Given the description of an element on the screen output the (x, y) to click on. 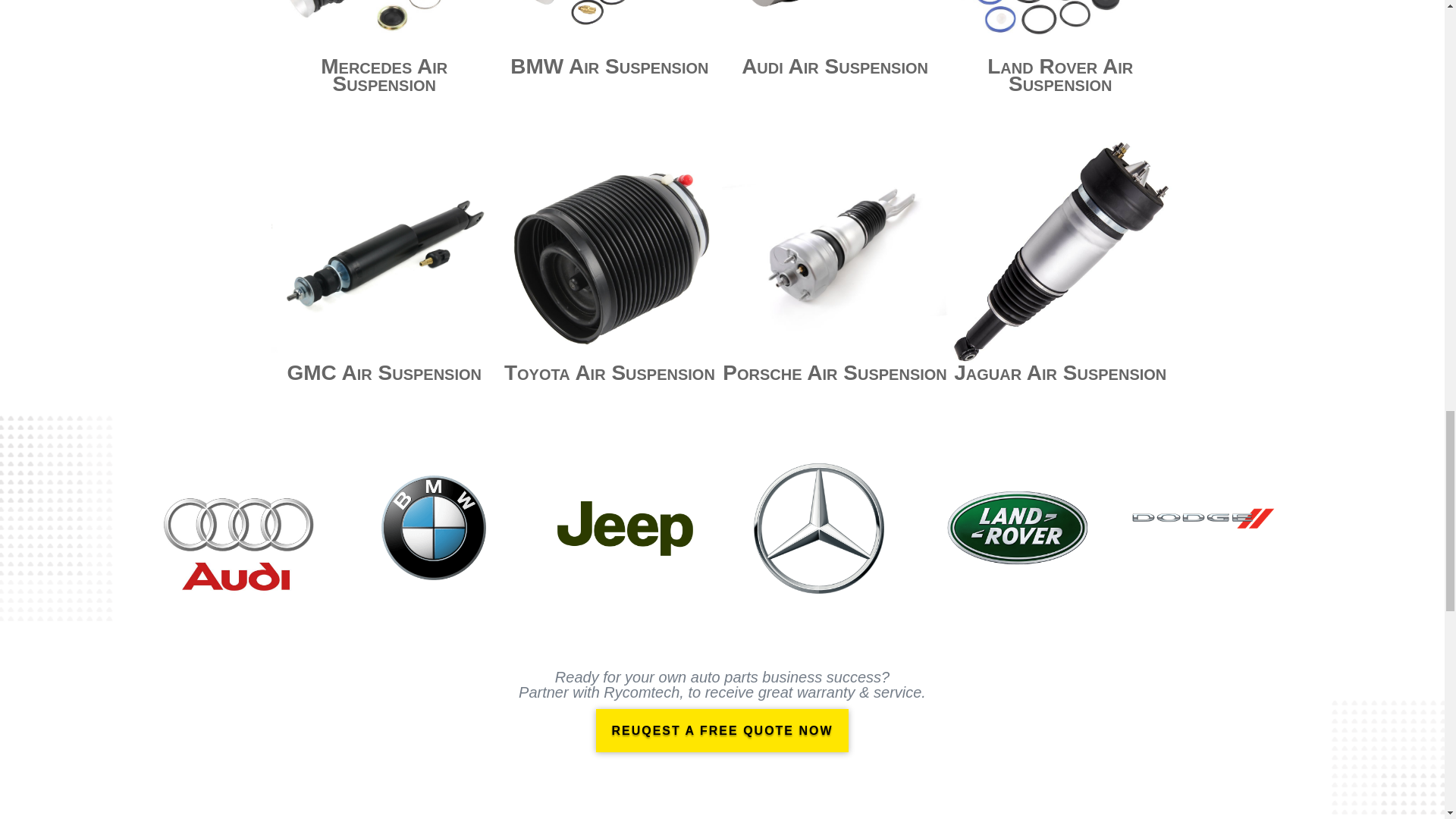
Porsche (834, 250)
Juagar (1060, 250)
Toyato (609, 250)
GMC (383, 250)
BMW (609, 28)
